Given the description of an element on the screen output the (x, y) to click on. 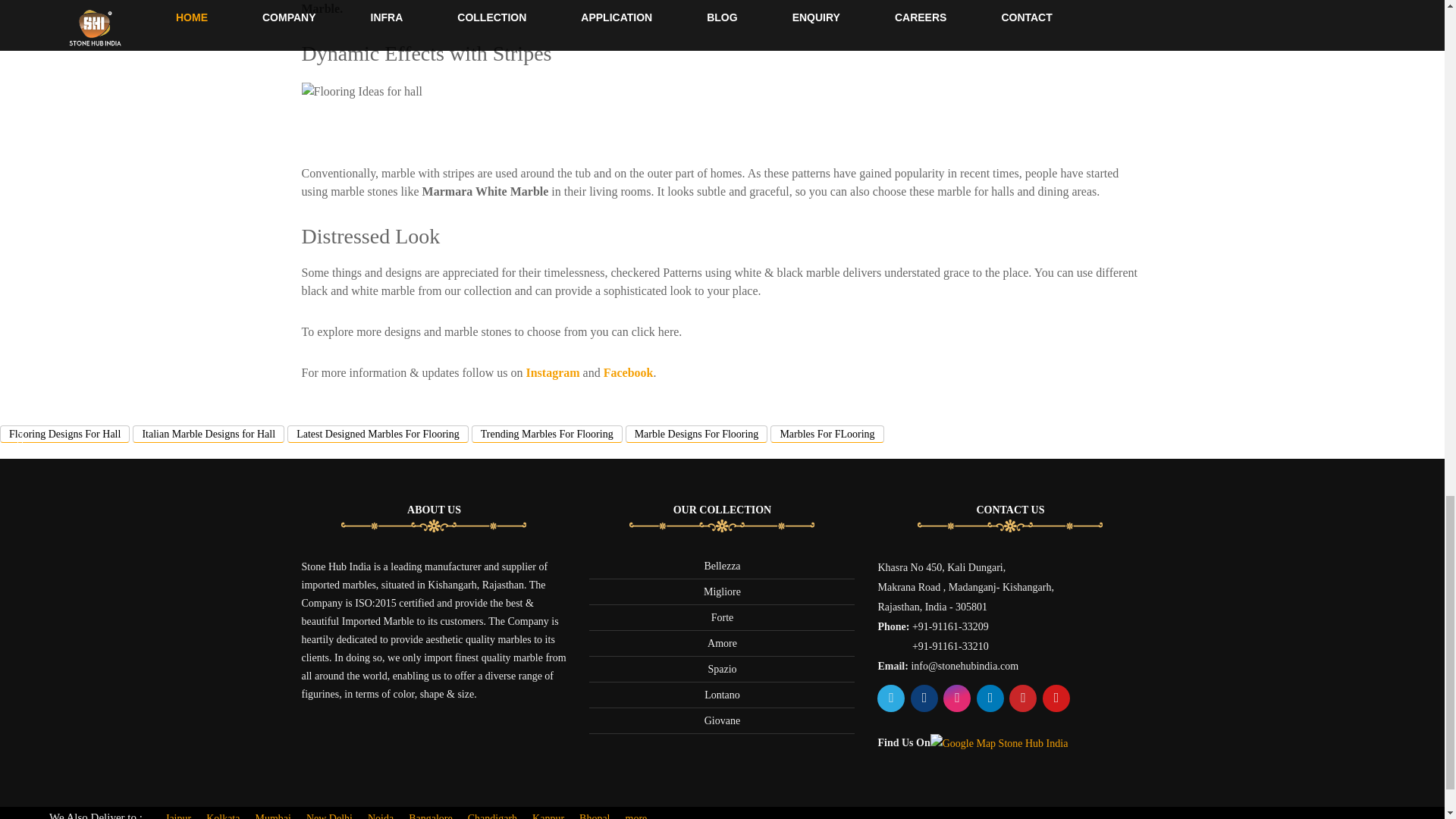
Trending Marbles For Flooring (546, 433)
Marble Designs For Flooring (696, 433)
Migliore (722, 591)
Flooring Designs For Hall (64, 433)
Instagram (552, 372)
Facebook (628, 372)
Marbles For FLooring (826, 433)
Italian Marble Designs for Hall (208, 433)
Latest Designed Marbles For Flooring (378, 433)
Bellezza (721, 565)
